Given the description of an element on the screen output the (x, y) to click on. 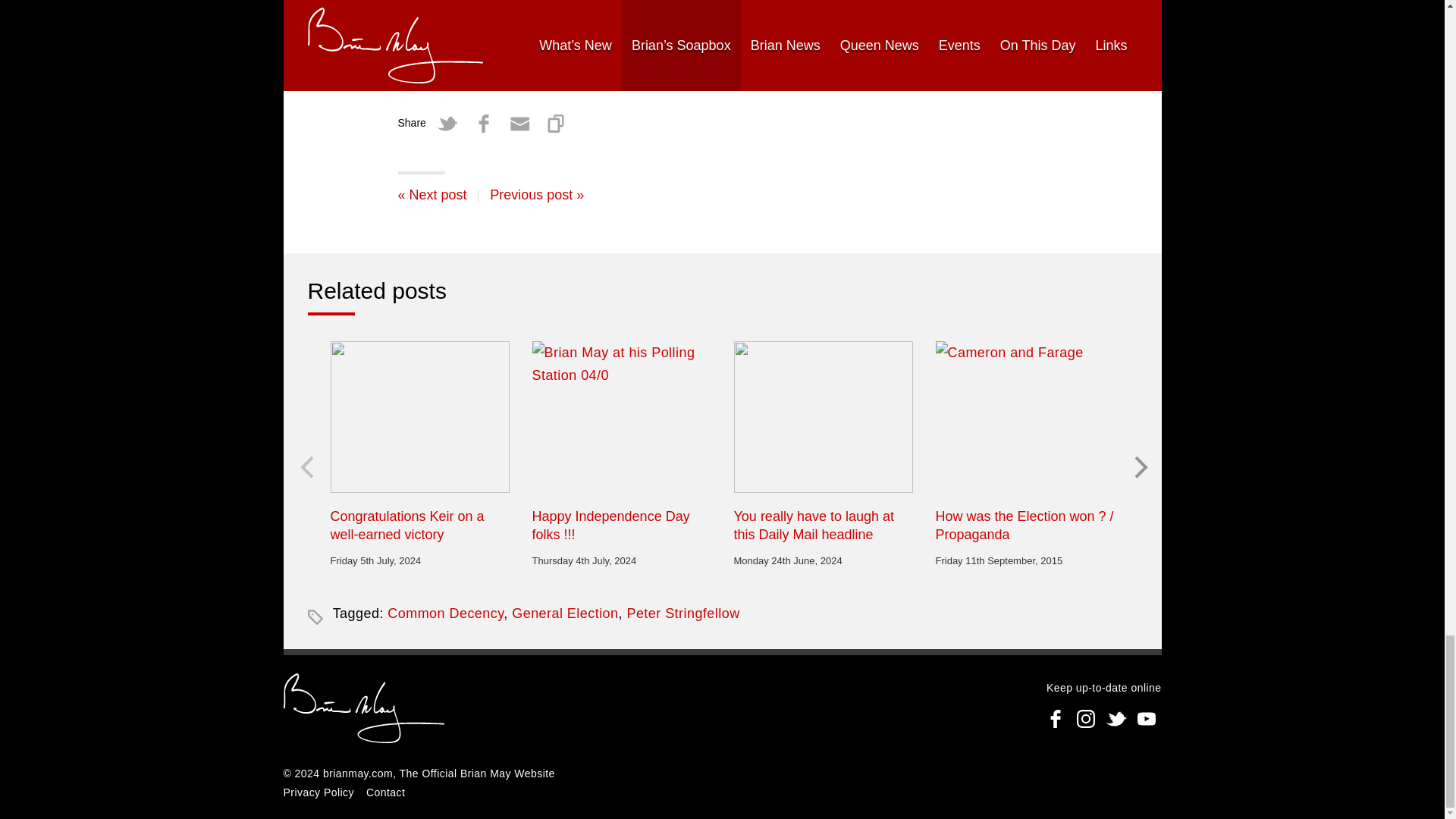
brianmay.com (364, 710)
Follow BrianMay.com on Instagram (1085, 718)
brianmay.com (358, 773)
Follow Brian May on YouTube (1146, 718)
Follow Brian May on Twitter (1115, 718)
Last chance to register - Why you need to vote (431, 194)
Follow BrianMay.com on facebook (1055, 718)
